Given the description of an element on the screen output the (x, y) to click on. 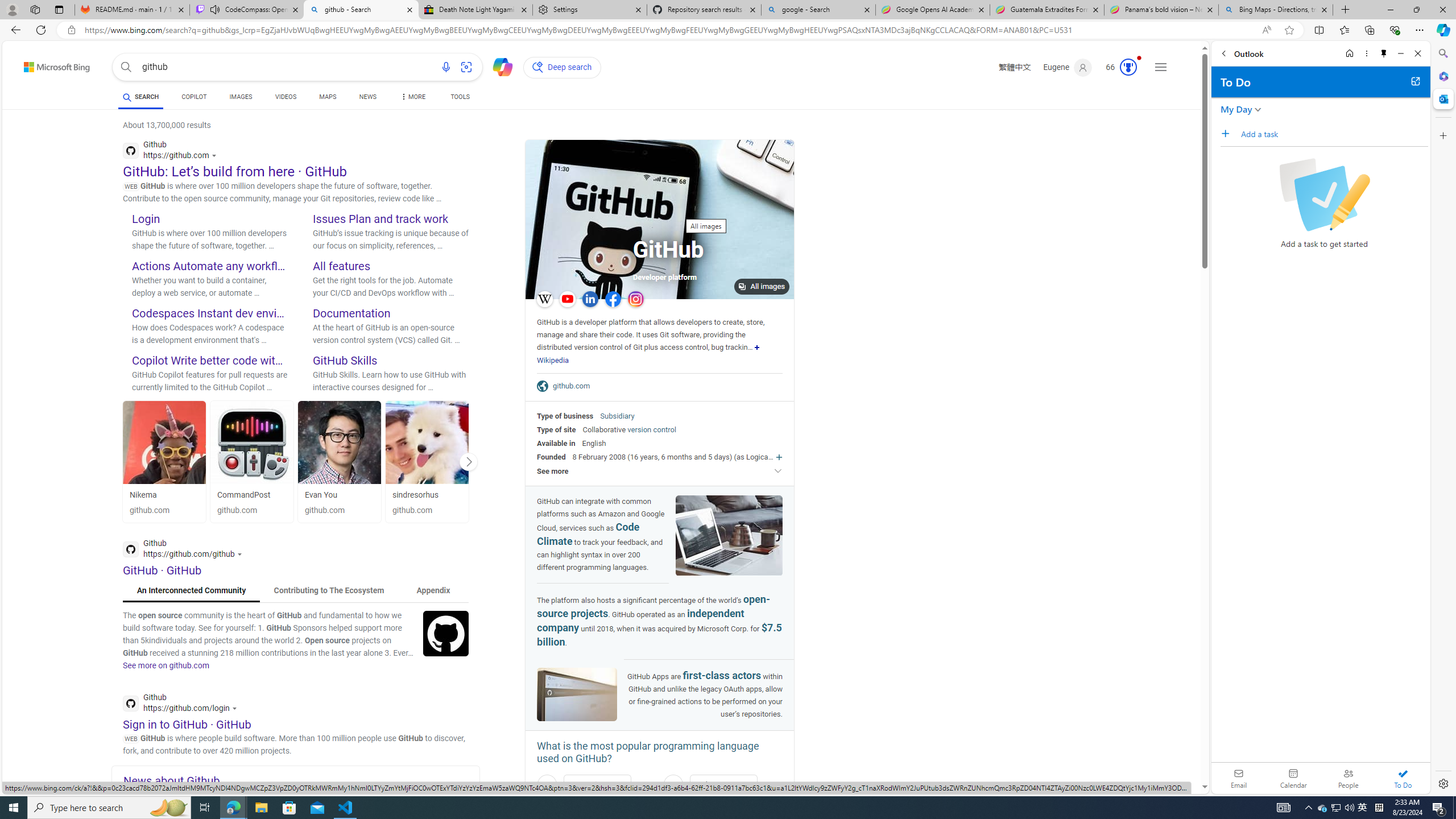
Search button (126, 66)
Image (445, 633)
CommandPost (243, 494)
A JavaScript (596, 784)
Image (445, 633)
Show more (757, 347)
People (1347, 777)
Facebook (613, 299)
